Given the description of an element on the screen output the (x, y) to click on. 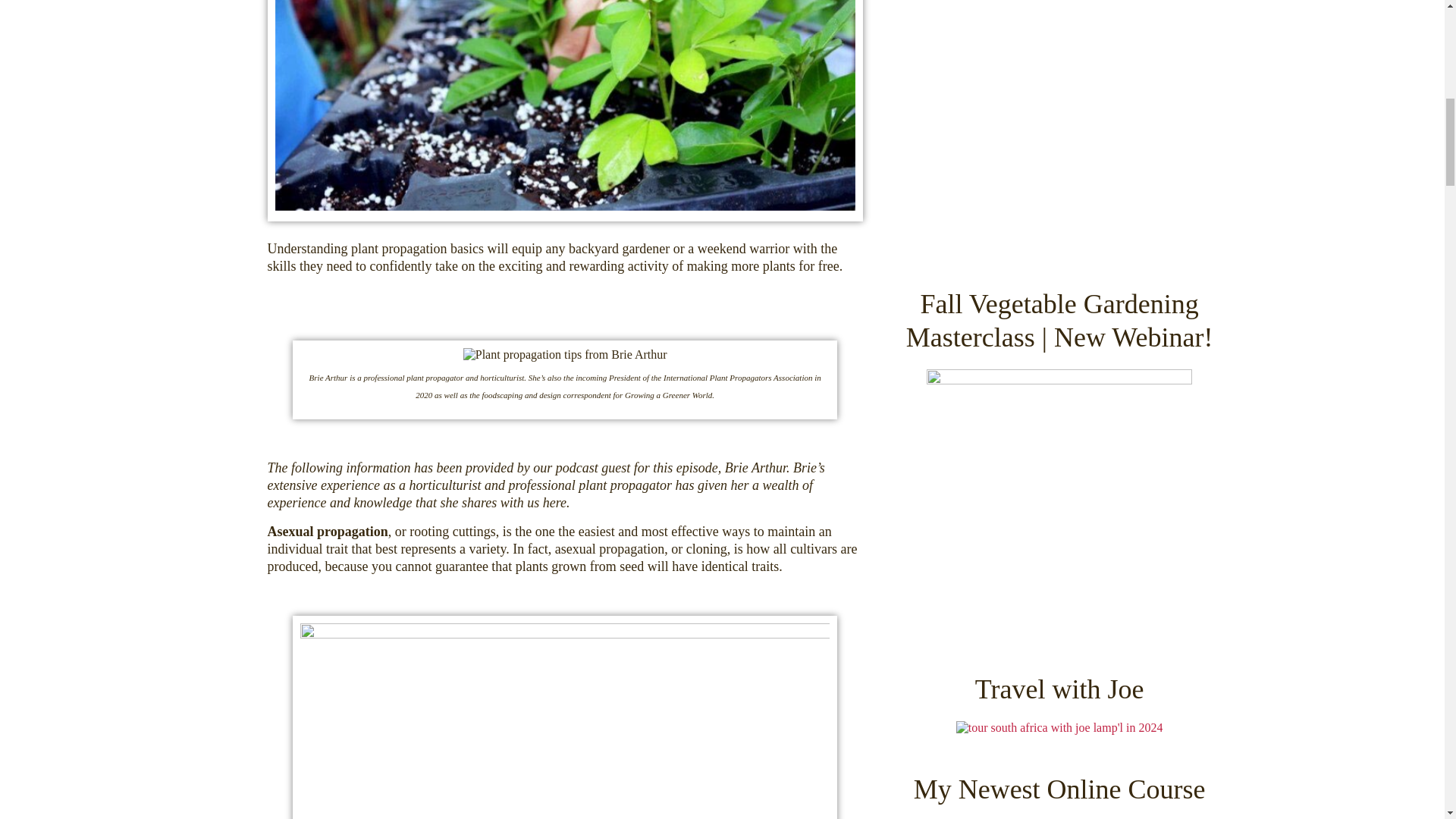
Travel with Joe (1059, 727)
My Newest Book! (1059, 124)
